Given the description of an element on the screen output the (x, y) to click on. 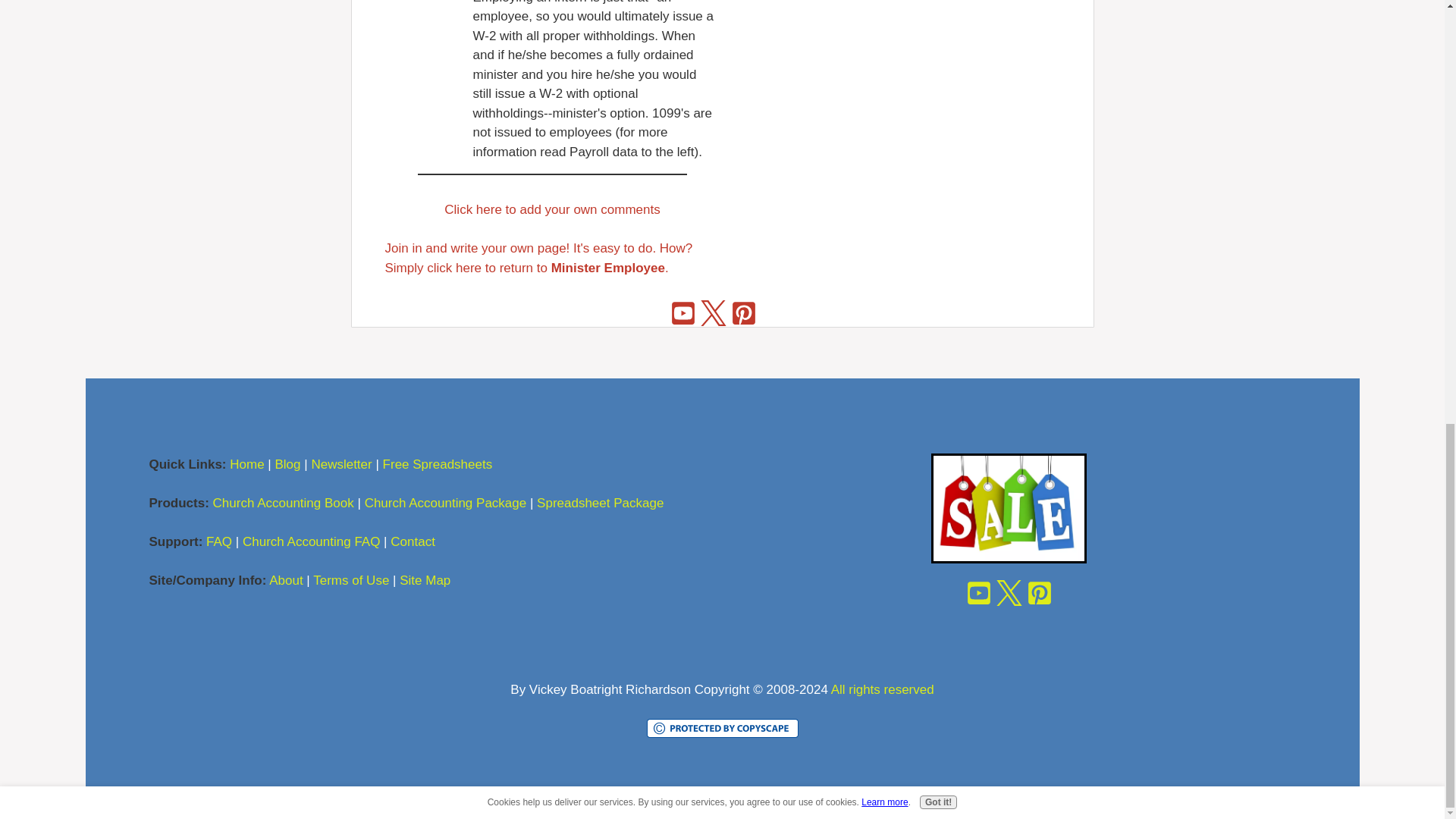
Subscribe to our YouTube Channel (977, 592)
Follow us on X (713, 311)
Contact (412, 541)
Church Accounting FAQ (311, 541)
Home (246, 464)
Subscribe to our YouTube Channel (683, 311)
Spreadsheet Package (600, 503)
Follow us on X (1007, 592)
Visit us on Pinterest (743, 311)
Church Accounting Book (282, 503)
Newsletter (341, 464)
Click here to add your own comments (551, 209)
Visit us on Pinterest (1038, 592)
Free Spreadsheets  (439, 464)
